Given the description of an element on the screen output the (x, y) to click on. 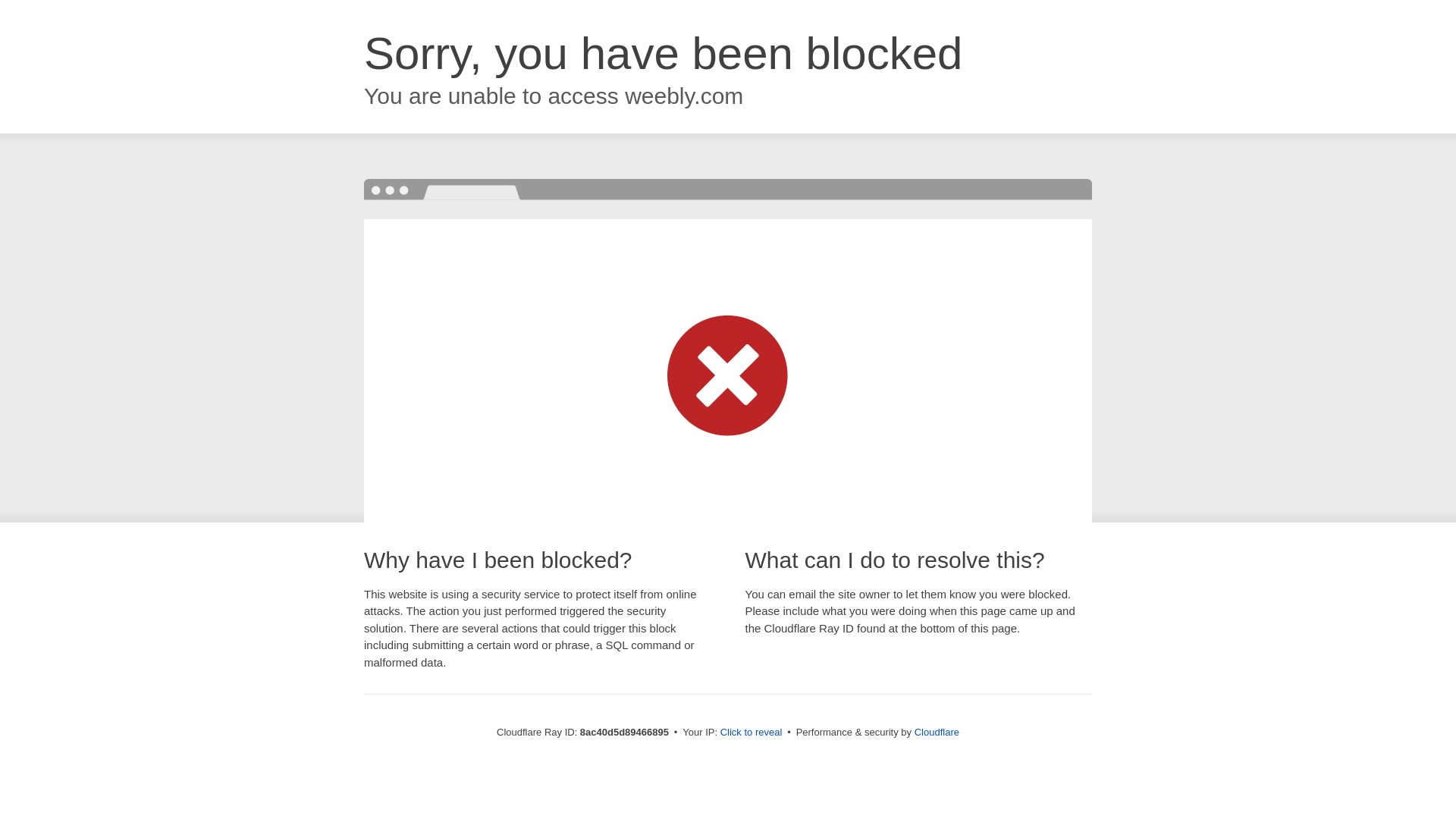
Cloudflare (936, 731)
Click to reveal (751, 732)
